Given the description of an element on the screen output the (x, y) to click on. 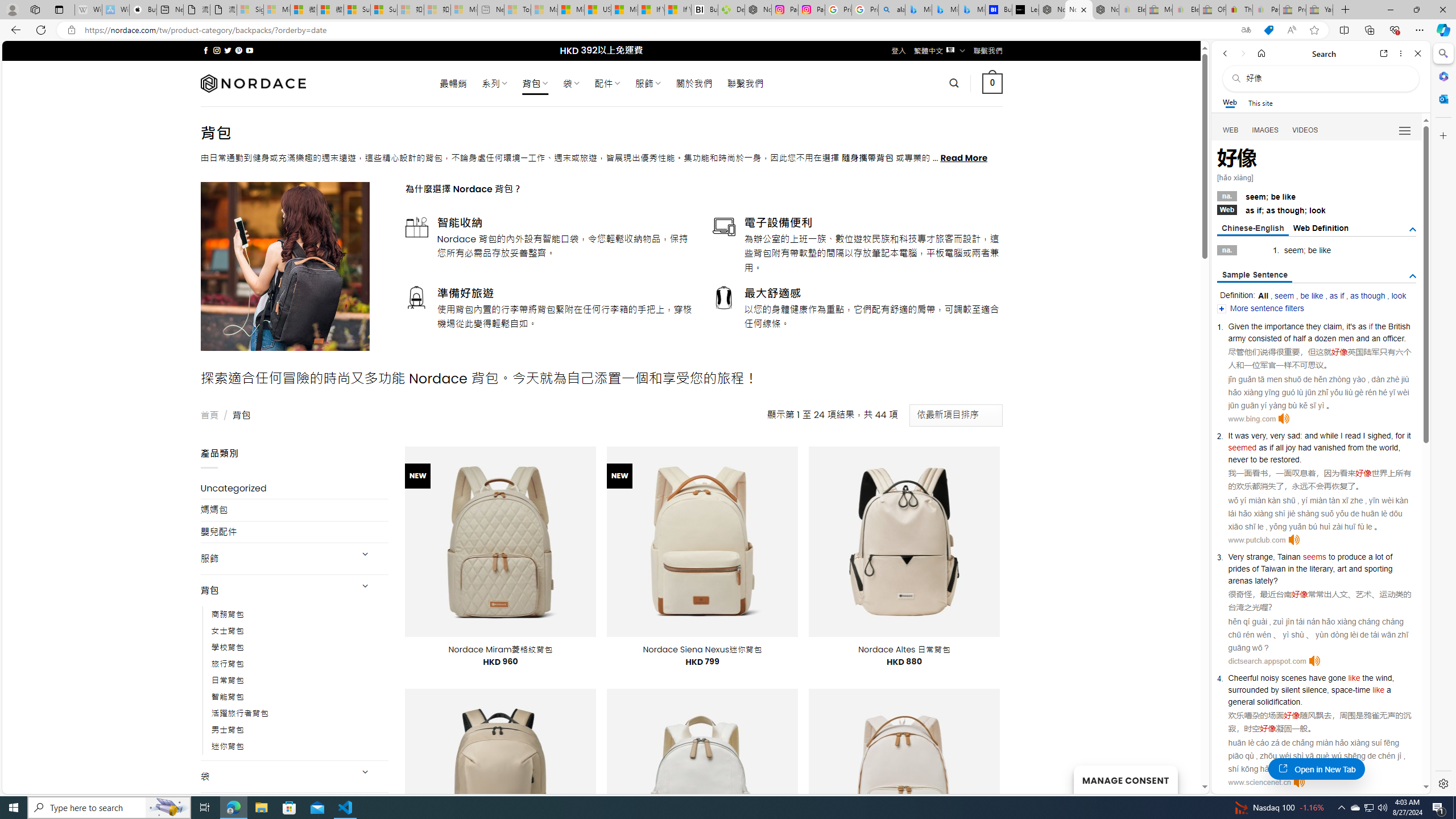
importance (1283, 325)
restored (1284, 459)
Show translate options (1245, 29)
seems (1314, 556)
while (1329, 435)
's (1352, 325)
Search Filter, WEB (1231, 129)
